Given the description of an element on the screen output the (x, y) to click on. 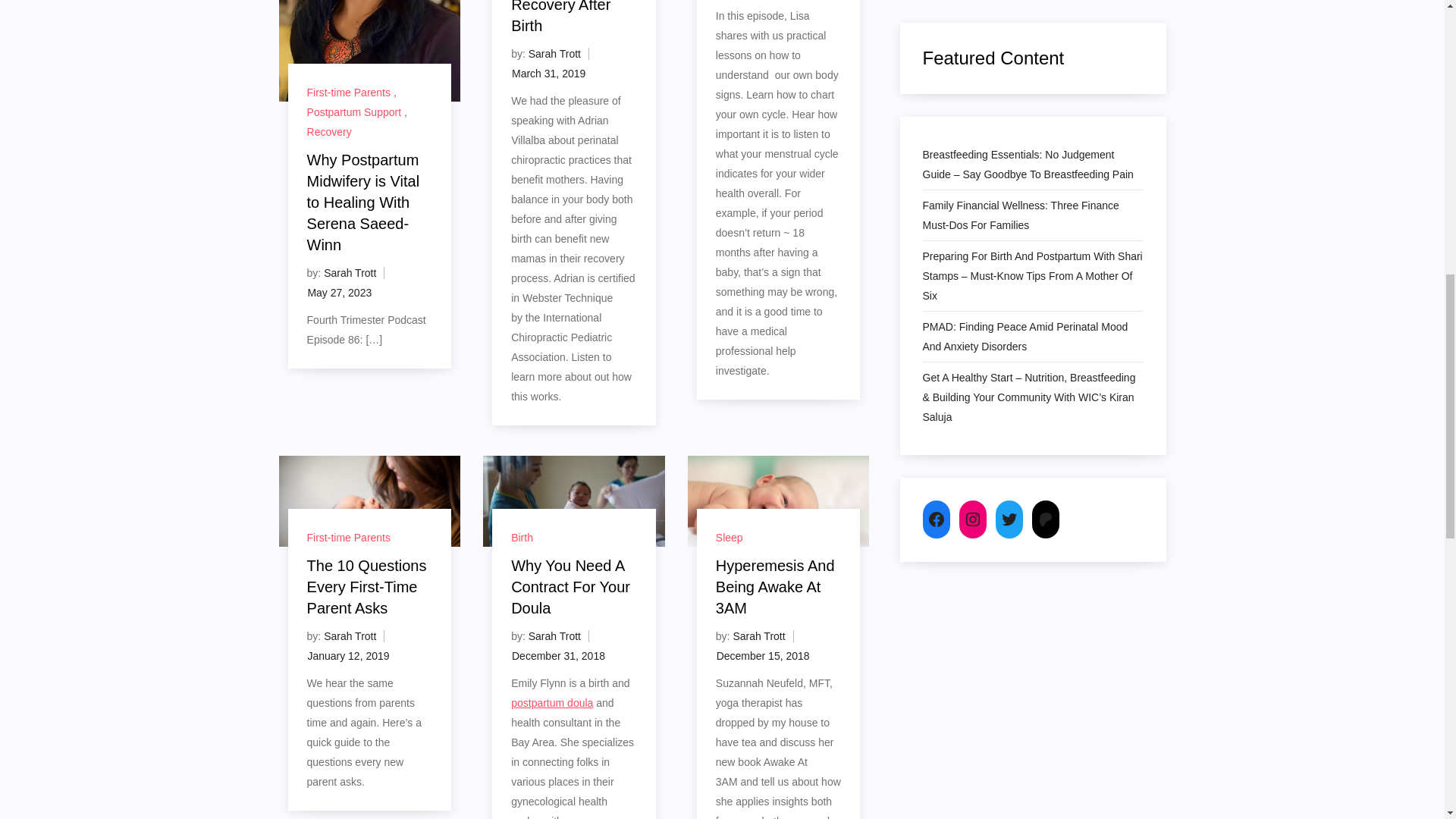
Sarah Trott (349, 272)
First-time Parents (348, 92)
Recovery (329, 131)
Postpartum Support (354, 111)
Sarah Trott (554, 53)
May 27, 2023 (339, 292)
